Given the description of an element on the screen output the (x, y) to click on. 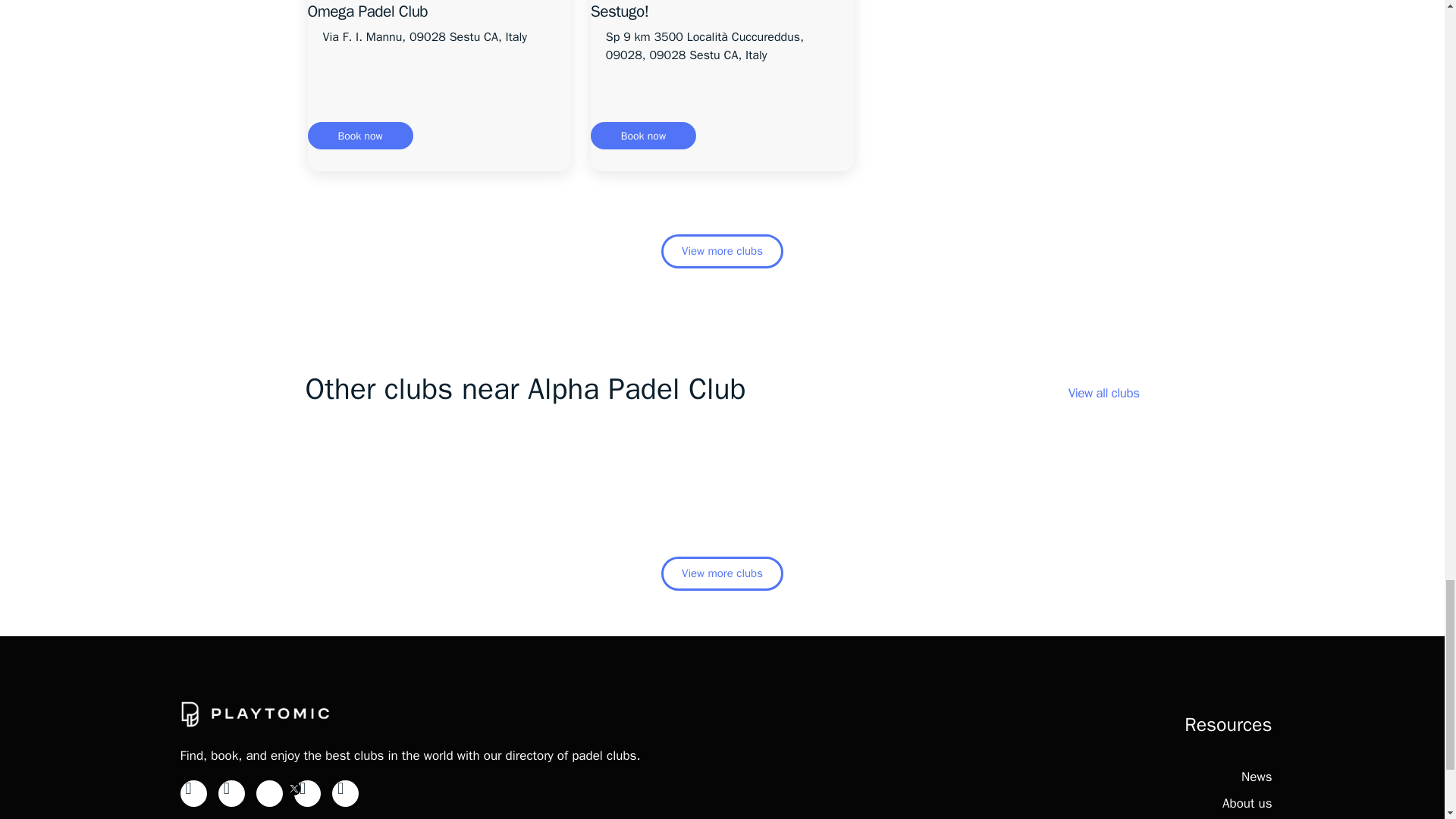
News (1256, 776)
View more clubs (722, 251)
Book now (643, 135)
View more clubs (722, 573)
View all clubs (1104, 392)
Book now (360, 135)
About us (1247, 803)
